Given the description of an element on the screen output the (x, y) to click on. 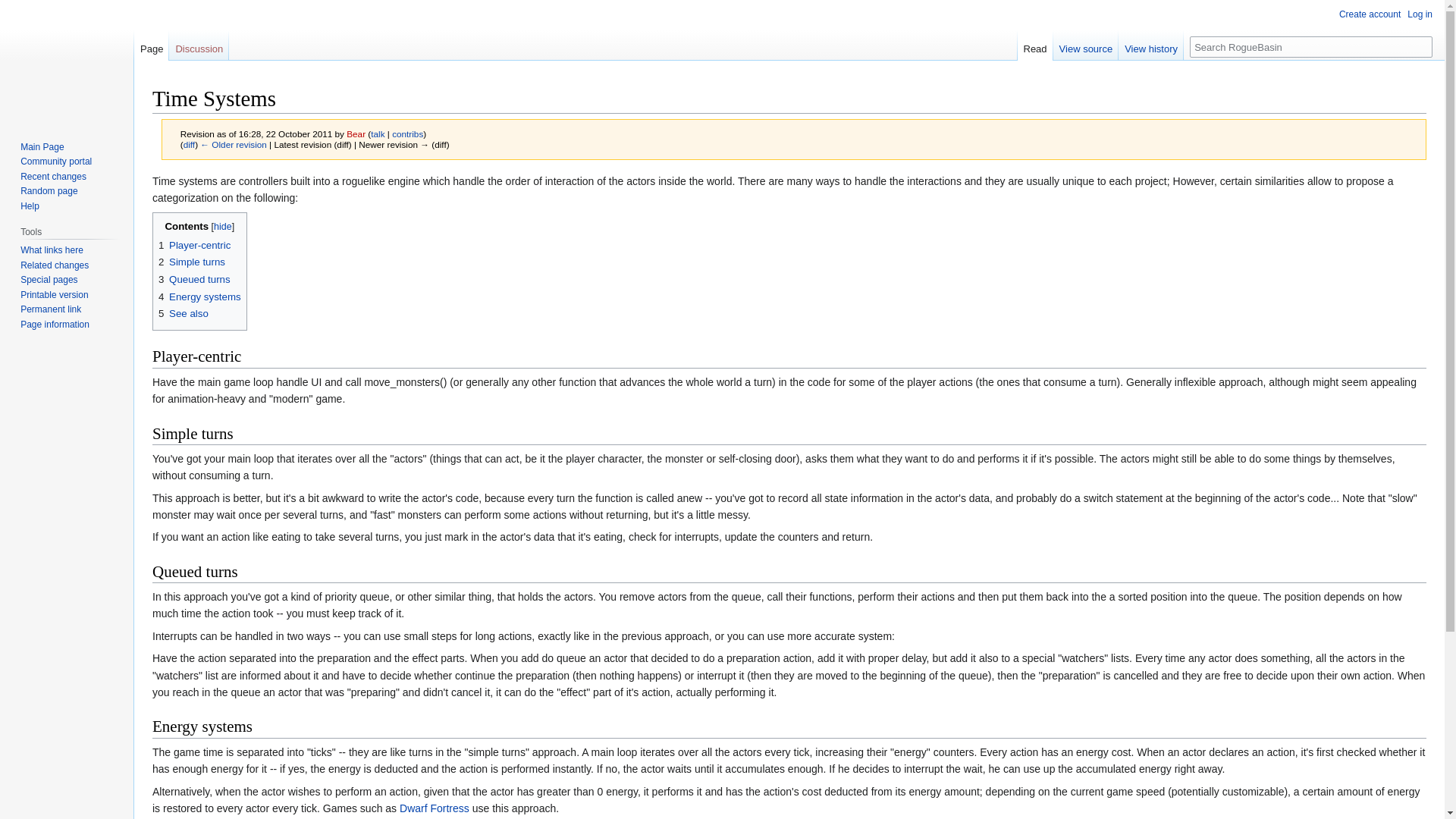
Search (1420, 46)
4 Energy systems (199, 296)
Dwarf Fortress (433, 808)
Create account (1369, 14)
Page (150, 45)
Search (1420, 46)
Main Page (42, 146)
View history (1150, 45)
Log in (1419, 14)
2 Simple turns (191, 261)
Bear (355, 133)
User talk:Bear (377, 133)
talk (377, 133)
1 Player-centric (194, 244)
